Given the description of an element on the screen output the (x, y) to click on. 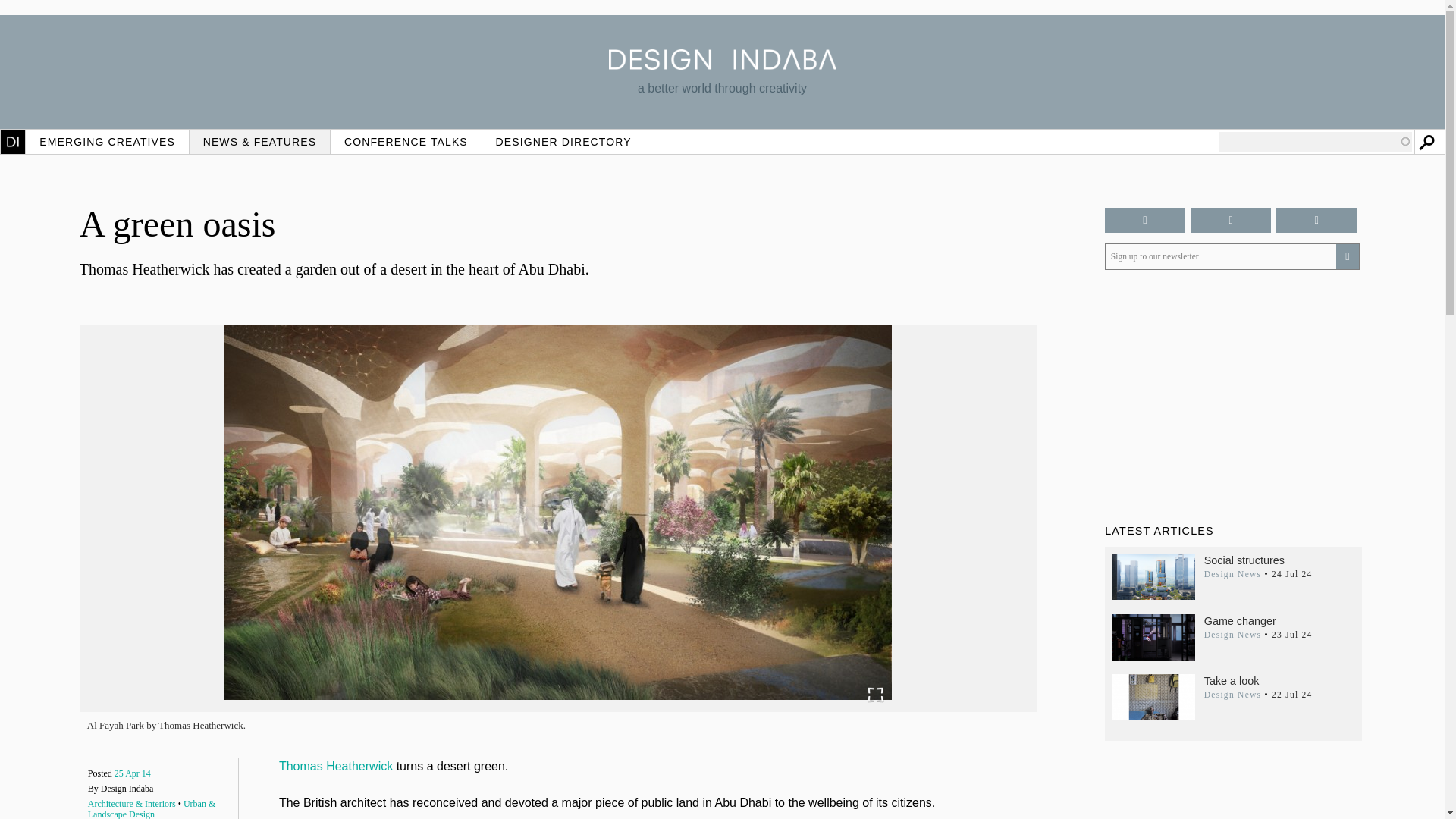
Home (721, 65)
DESIGNER DIRECTORY (563, 141)
25 Apr 14 (133, 773)
HOME (13, 141)
CONFERENCE TALKS (405, 141)
Apply (1426, 141)
EMERGING CREATIVES (107, 141)
Thomas Heatherwick (336, 766)
Apply (1426, 141)
